Given the description of an element on the screen output the (x, y) to click on. 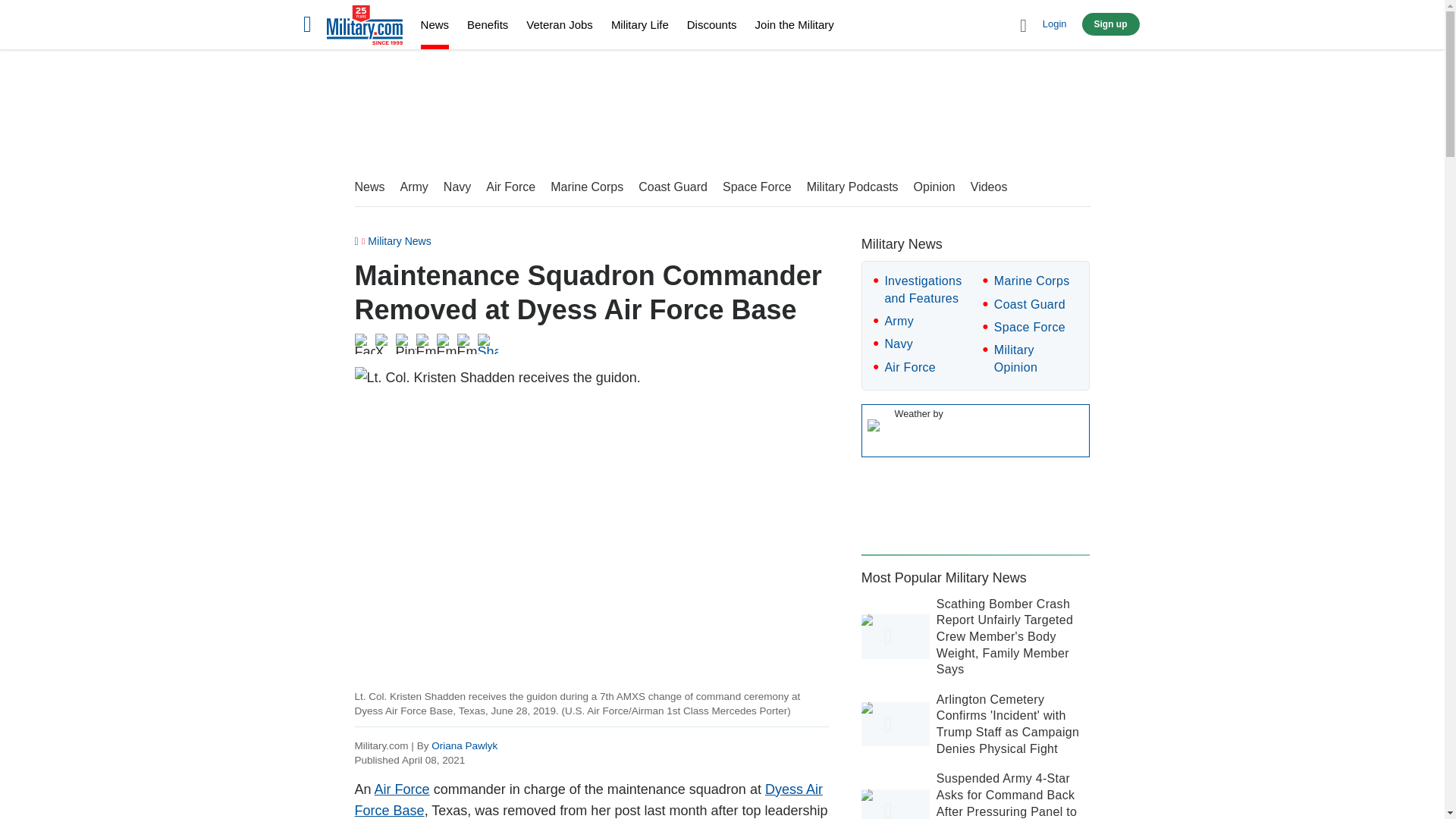
Military Life (639, 24)
Benefits (487, 24)
Home (364, 27)
Veteran Jobs (558, 24)
